Given the description of an element on the screen output the (x, y) to click on. 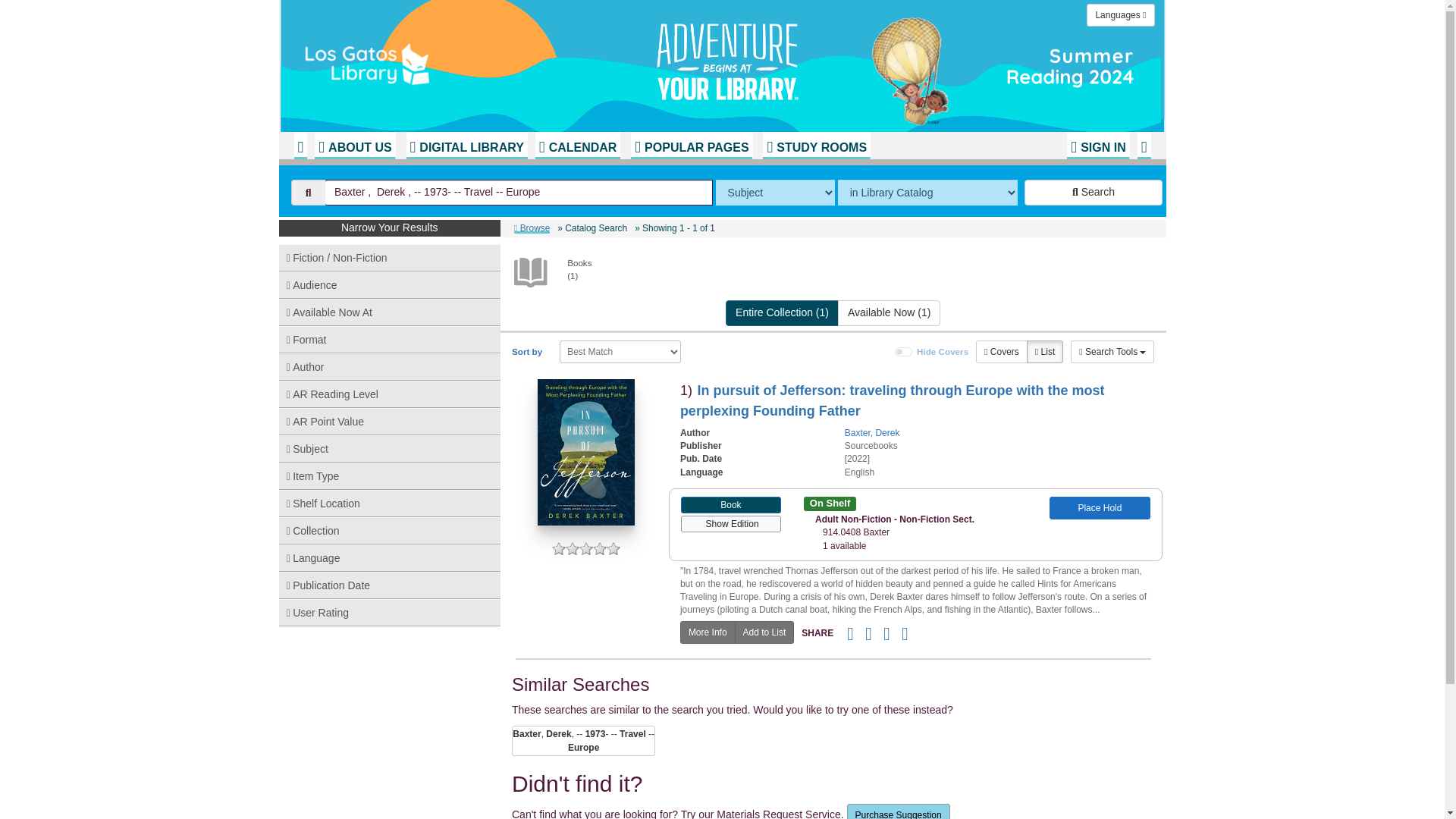
DIGITAL LIBRARY (466, 144)
SIGN IN (1098, 144)
CALENDAR (578, 144)
Languages  (1120, 15)
Library Home Page (483, 60)
on (903, 351)
 Search (1093, 192)
STUDY ROOMS (816, 144)
POPULAR PAGES (691, 144)
ABOUT US (354, 144)
